Given the description of an element on the screen output the (x, y) to click on. 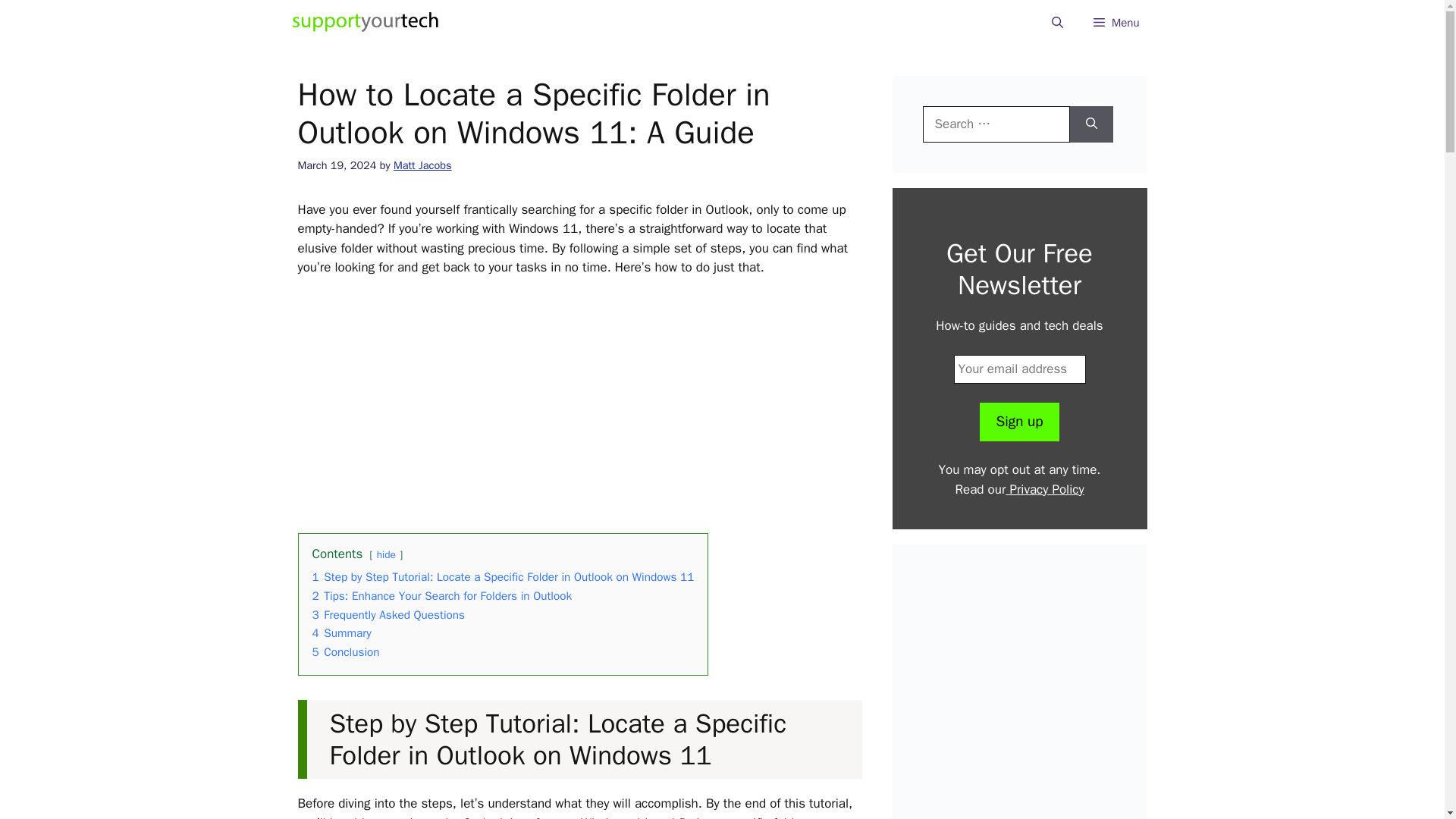
hide (386, 554)
Matt Jacobs (422, 164)
2 Tips: Enhance Your Search for Folders in Outlook (442, 595)
Advertisement (593, 402)
Advertisement (1030, 696)
Support Your Tech (365, 22)
5 Conclusion (346, 652)
Sign up (1018, 421)
Menu (1116, 22)
3 Frequently Asked Questions (389, 614)
4 Summary (342, 632)
